Given the description of an element on the screen output the (x, y) to click on. 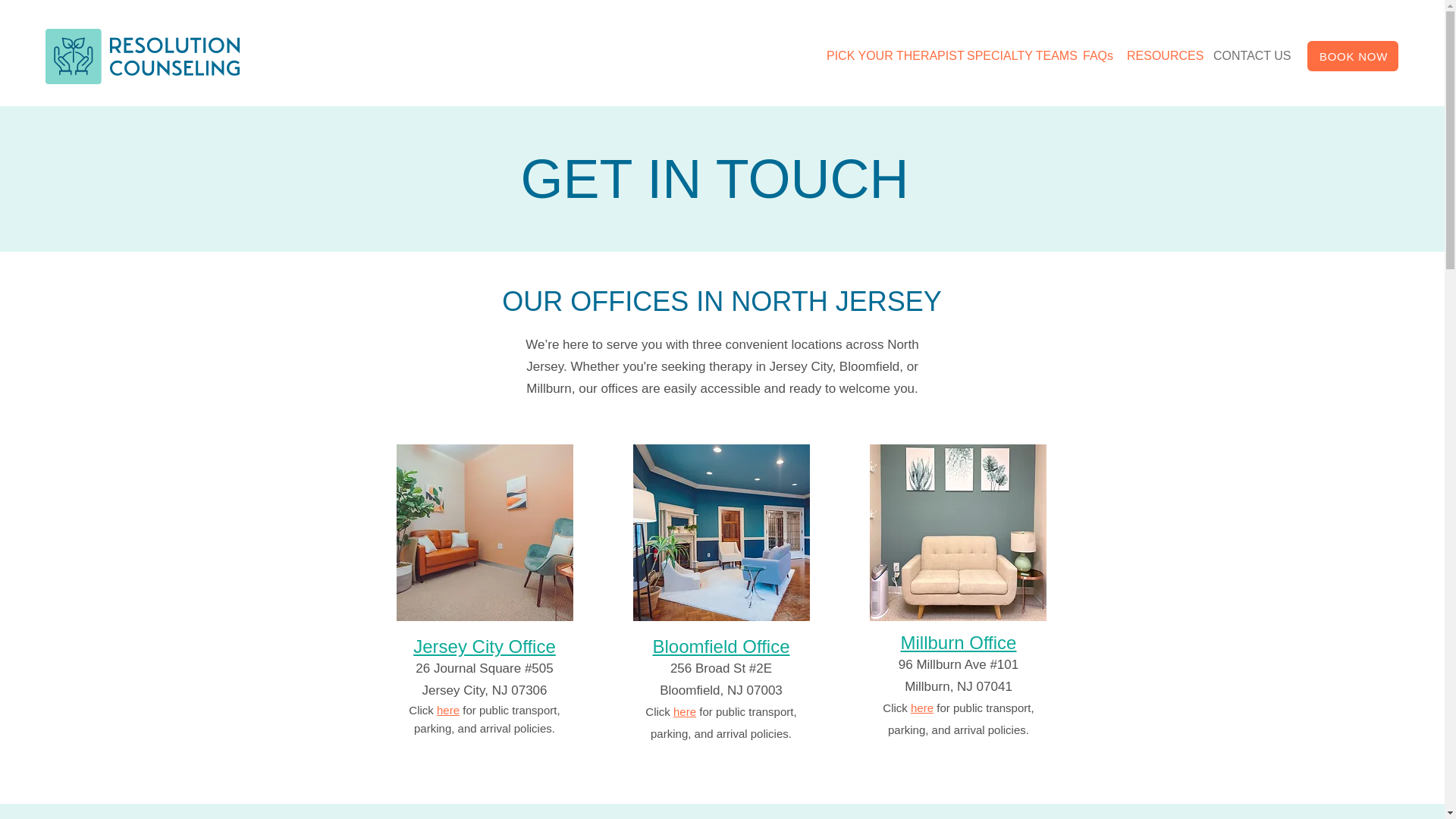
FAQs (1097, 56)
here (922, 707)
here (683, 711)
PICK YOUR THERAPIST (888, 56)
Bloomfield Office (720, 646)
RESOURCES (1162, 56)
BOOK NOW (1352, 55)
here (448, 709)
Millburn Office (958, 642)
SPECIALTY TEAMS (1017, 56)
Jersey City Office (484, 646)
CONTACT US (1249, 56)
